Given the description of an element on the screen output the (x, y) to click on. 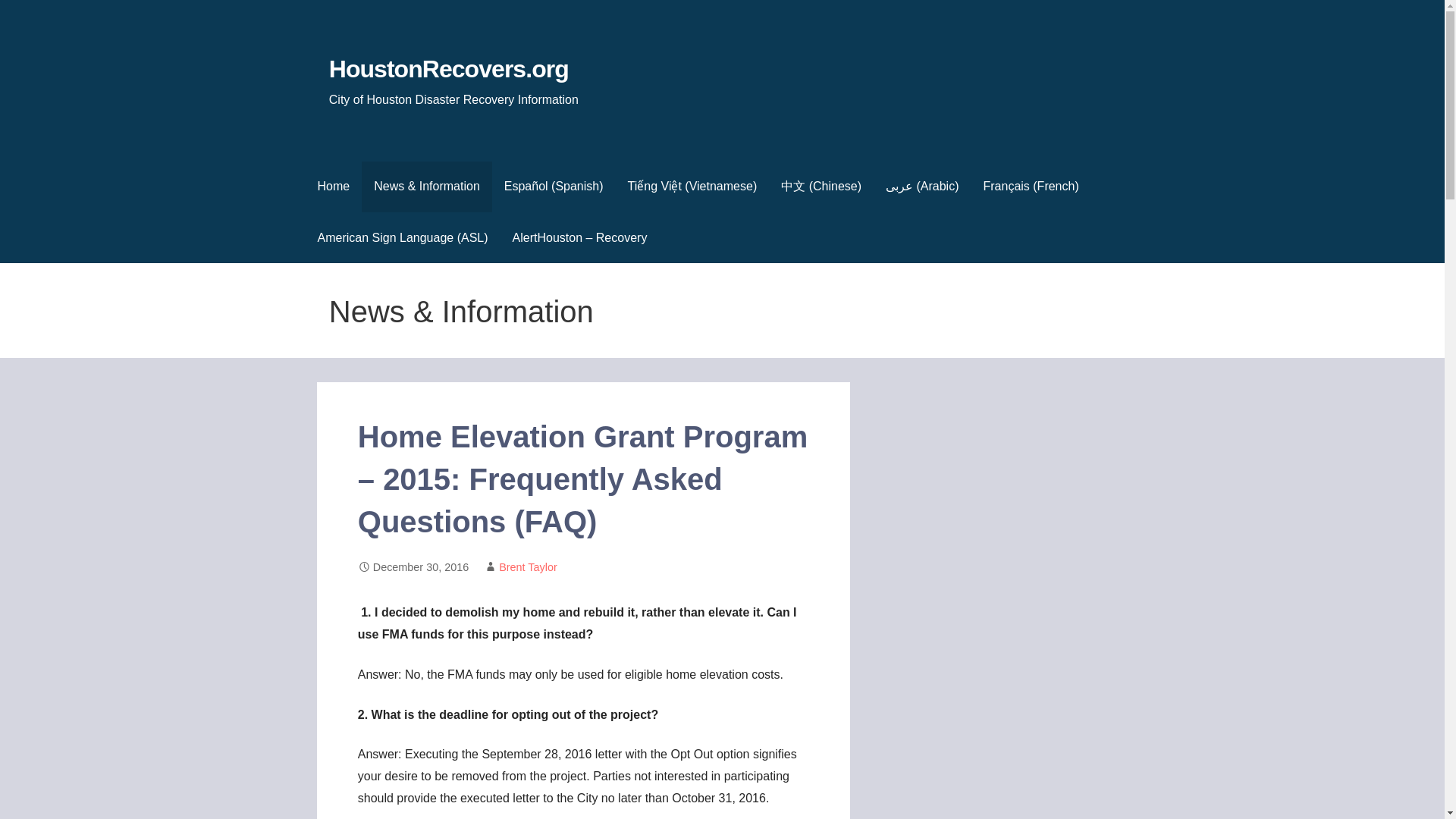
Home (332, 186)
Posts by Brent Taylor (528, 567)
HoustonRecovers.org (449, 68)
Brent Taylor (528, 567)
